Given the description of an element on the screen output the (x, y) to click on. 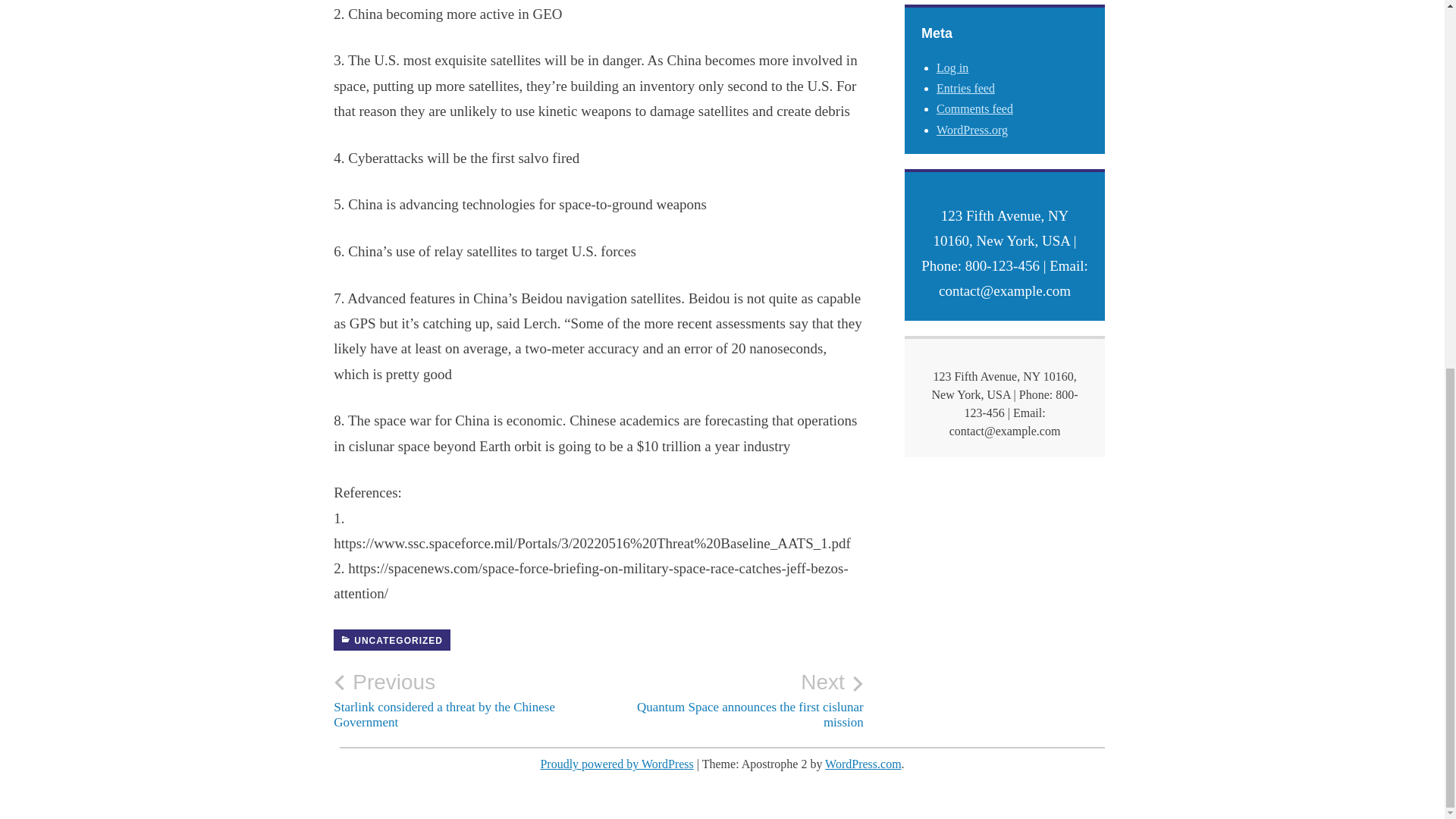
WordPress.org (971, 129)
Log in (952, 67)
WordPress.com (730, 699)
Proudly powered by WordPress (863, 763)
Comments feed (616, 763)
UNCATEGORIZED (974, 108)
Entries feed (391, 639)
